Given the description of an element on the screen output the (x, y) to click on. 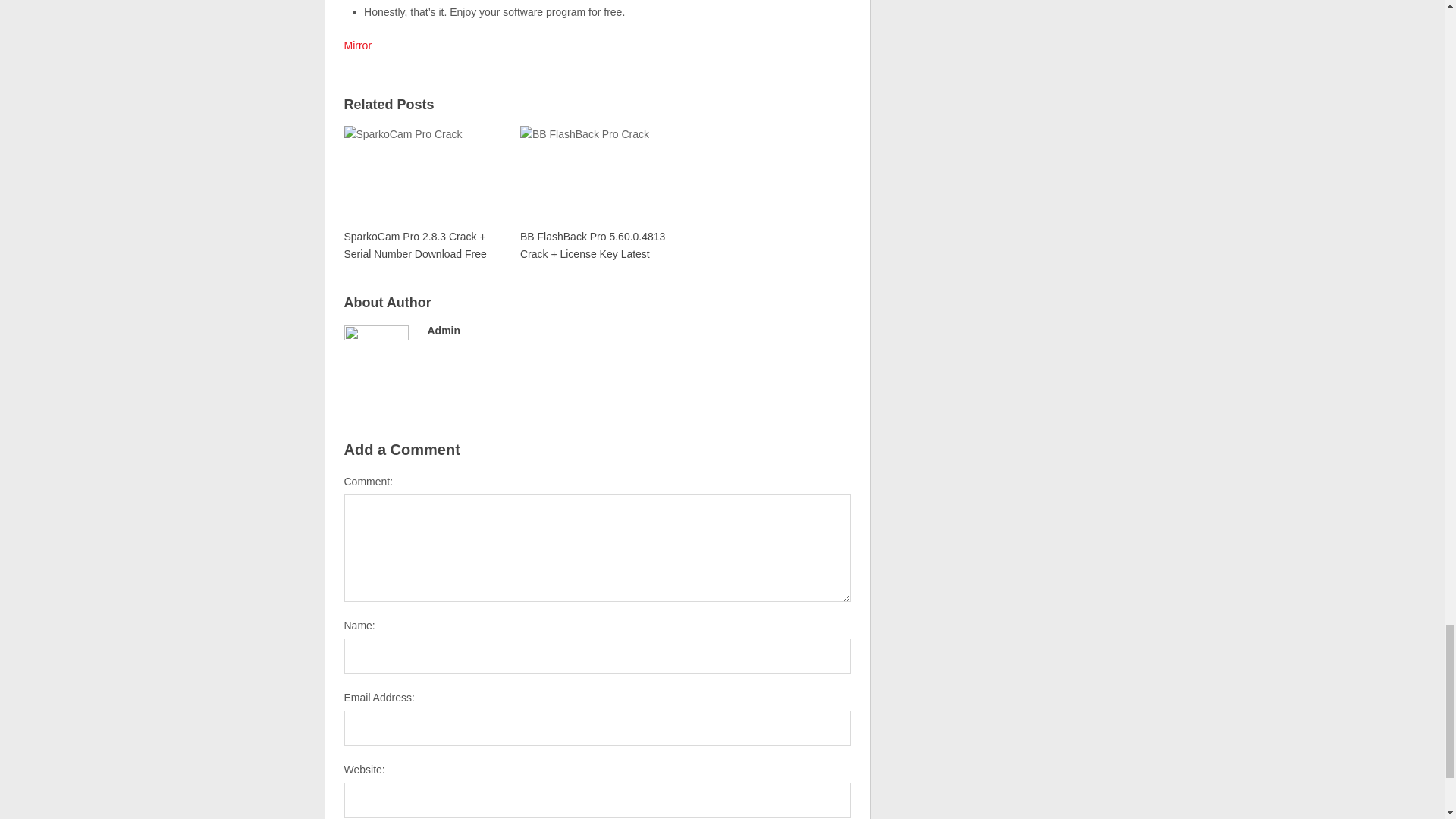
Mirror (357, 45)
